Given the description of an element on the screen output the (x, y) to click on. 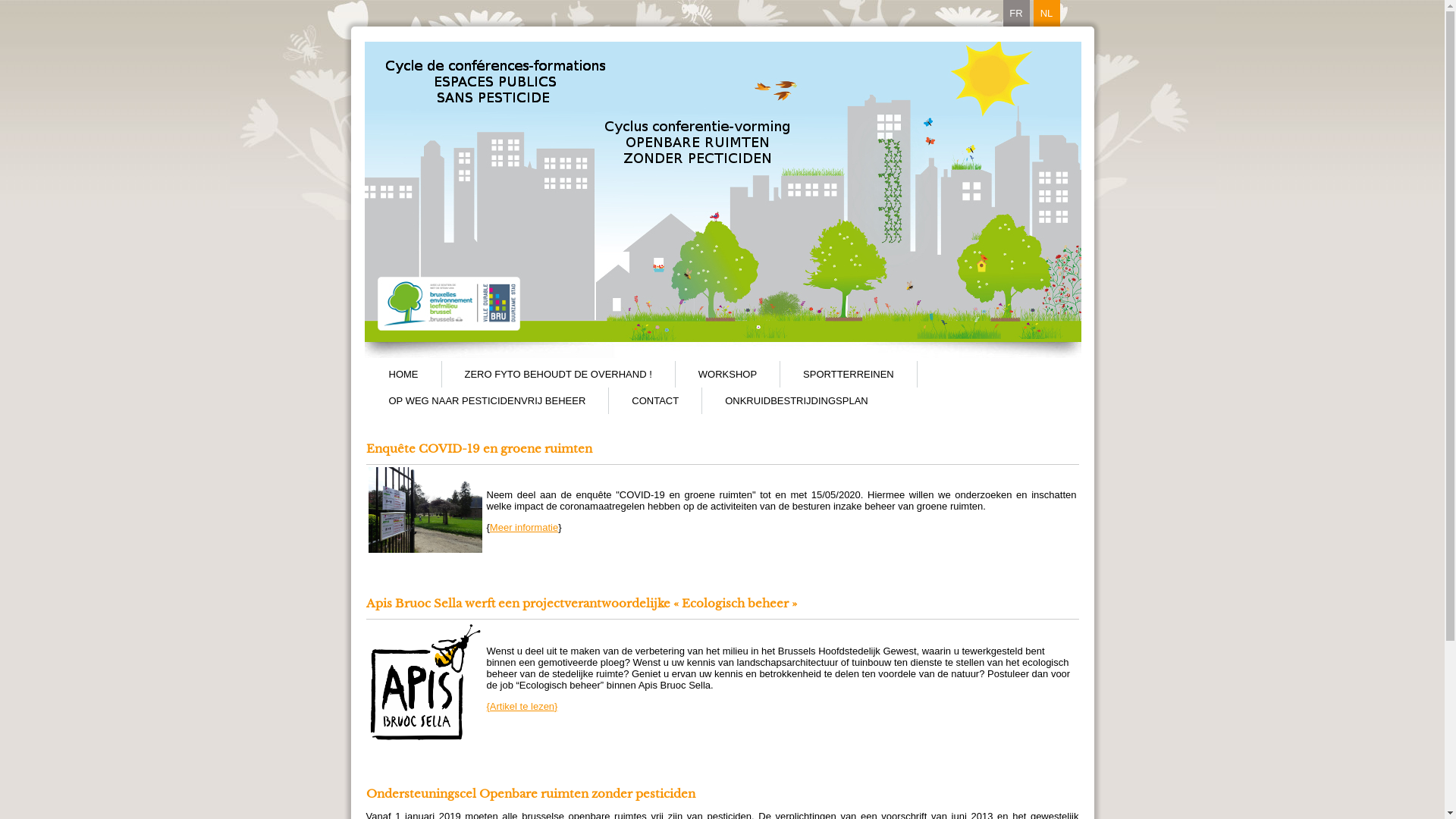
HOME Element type: text (402, 373)
SPORTTERREINEN Element type: text (848, 373)
Meer informatie Element type: text (523, 527)
Overslaan en naar de inhoud gaan Element type: text (75, 0)
CONTACT Element type: text (654, 400)
NL Element type: text (1045, 13)
ZERO FYTO BEHOUDT DE OVERHAND ! Element type: text (557, 373)
ONKRUIDBESTRIJDINGSPLAN Element type: text (796, 400)
Ondersteuningscel Openbare ruimten zonder pesticiden Element type: text (529, 793)
WORKSHOP Element type: text (727, 373)
OP WEG NAAR PESTICIDENVRIJ BEHEER Element type: text (486, 400)
FR Element type: text (1015, 13)
